Given the description of an element on the screen output the (x, y) to click on. 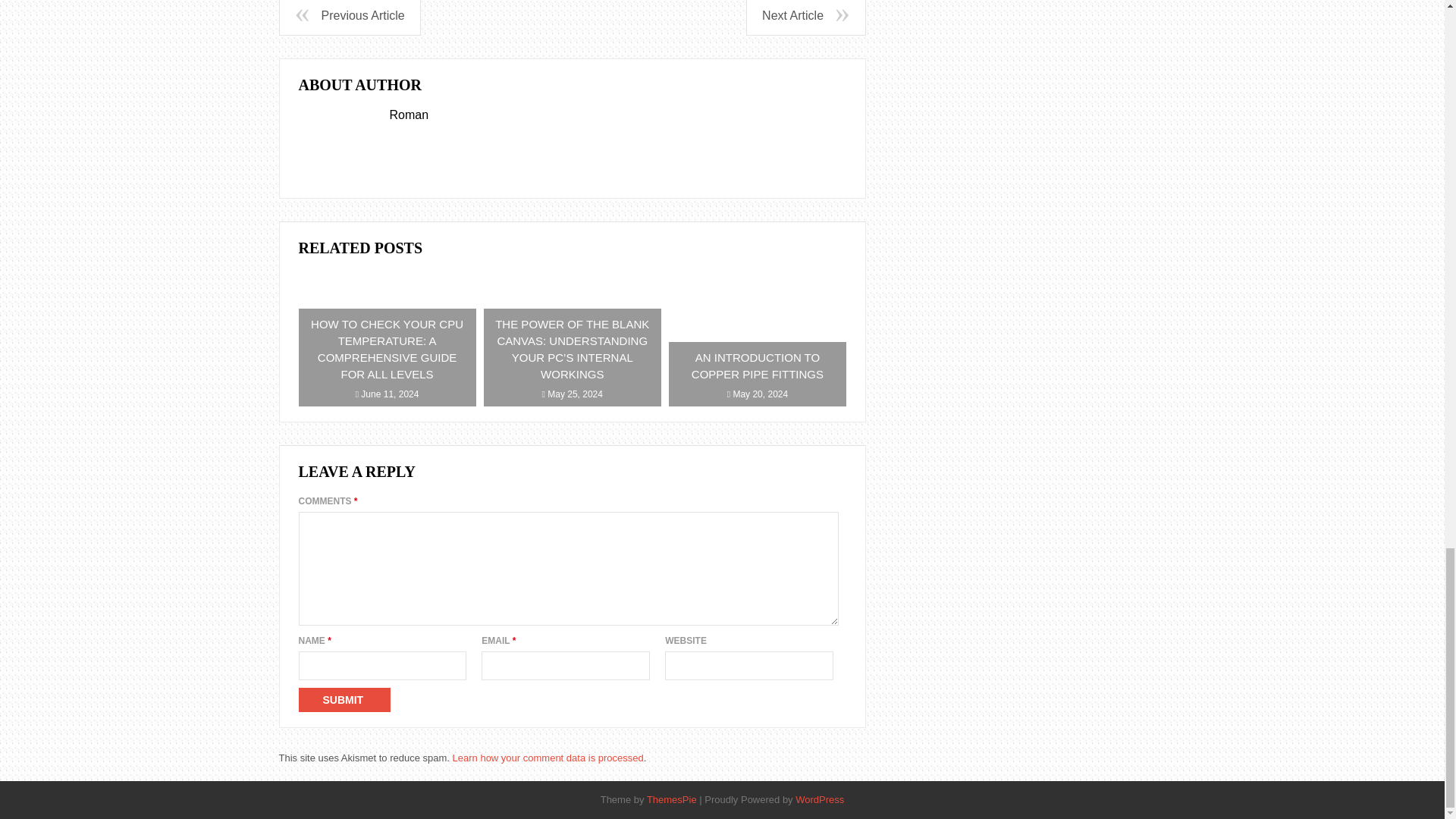
Submit  (344, 699)
Learn how your comment data is processed (547, 757)
Submit  (344, 699)
Previous Article (349, 17)
Next Article (805, 17)
